Given the description of an element on the screen output the (x, y) to click on. 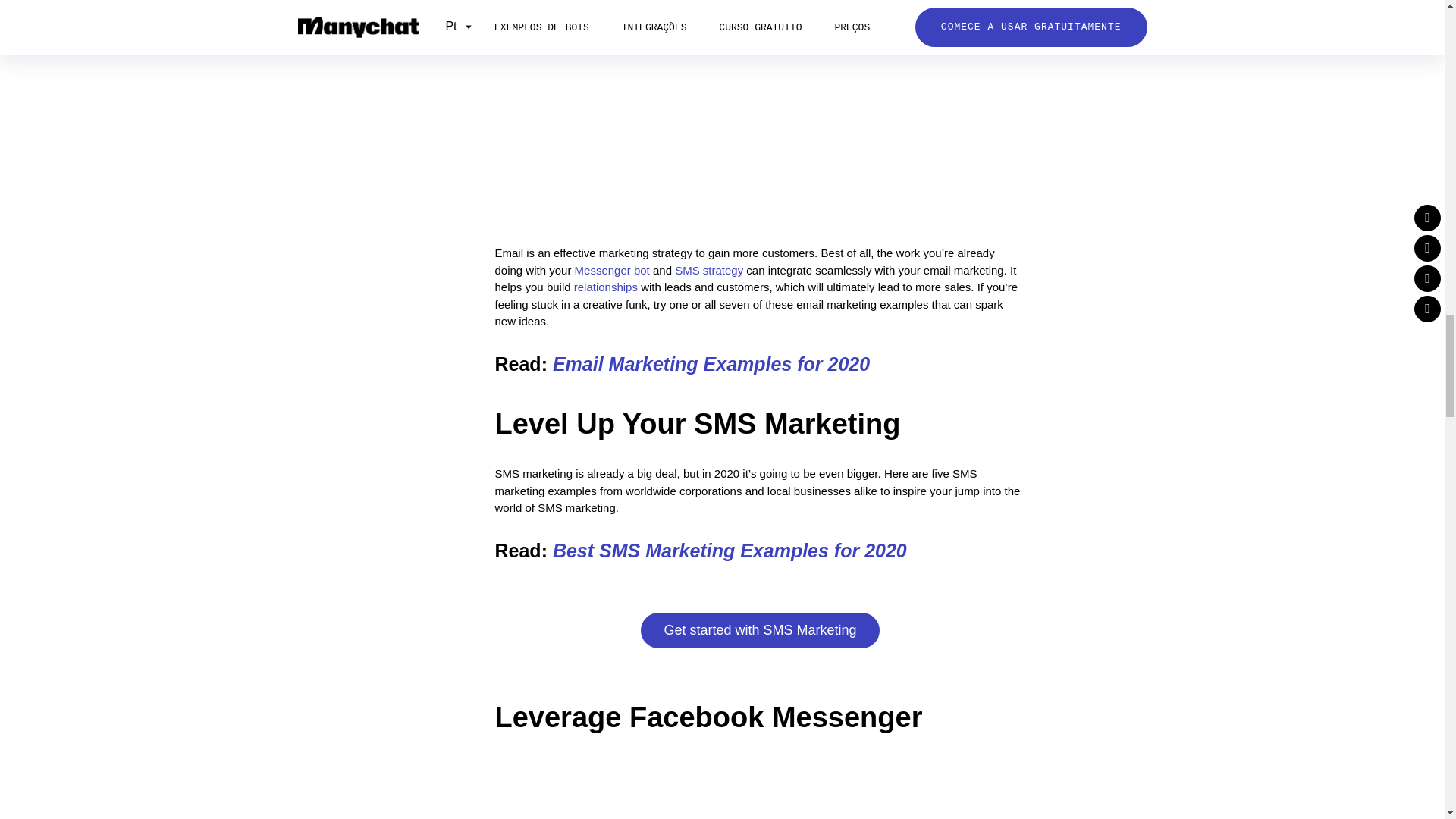
relationships (605, 286)
Messenger bot (612, 269)
SMS strategy (708, 269)
